Given the description of an element on the screen output the (x, y) to click on. 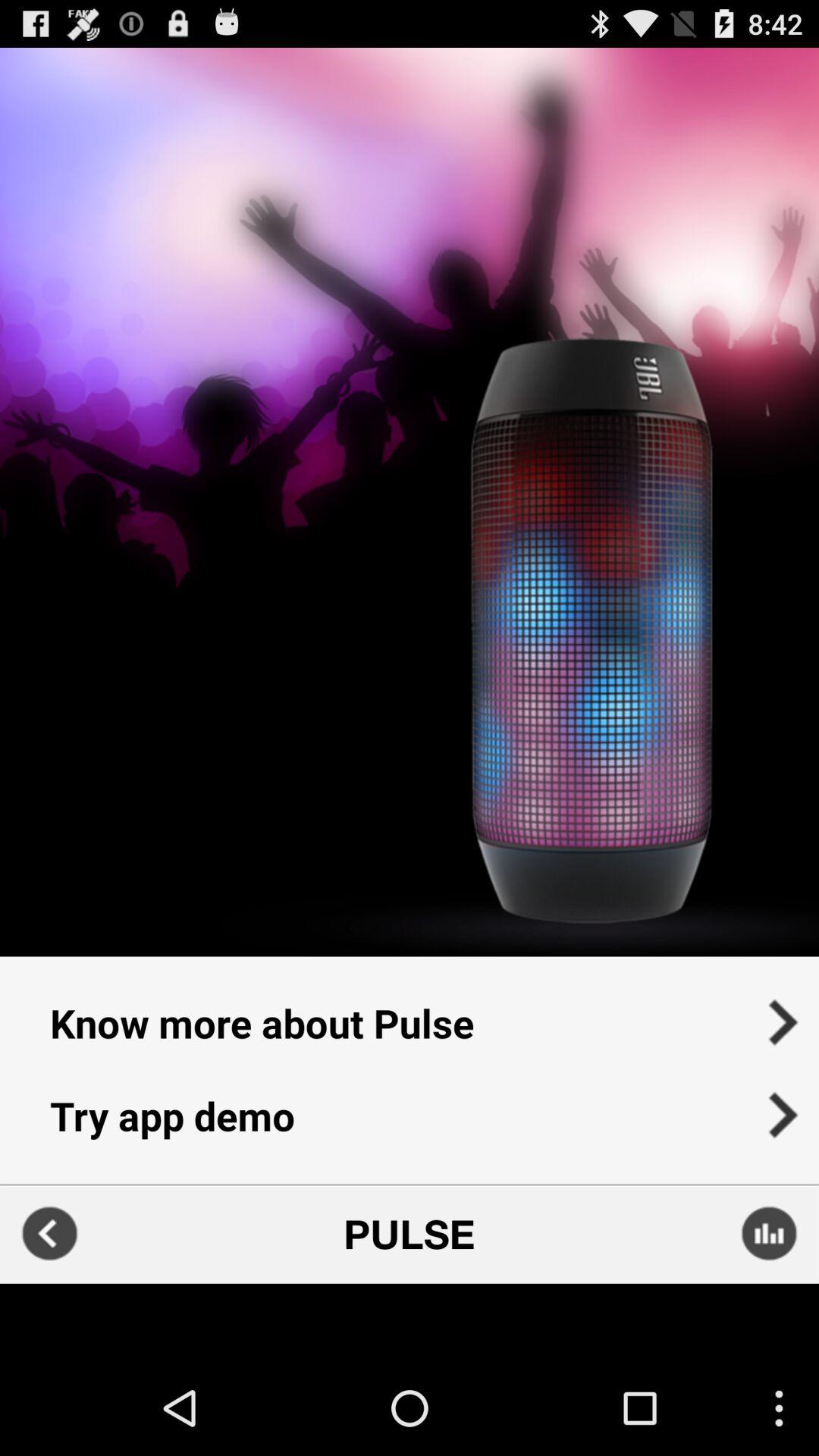
open icon below the know more about icon (409, 1125)
